Given the description of an element on the screen output the (x, y) to click on. 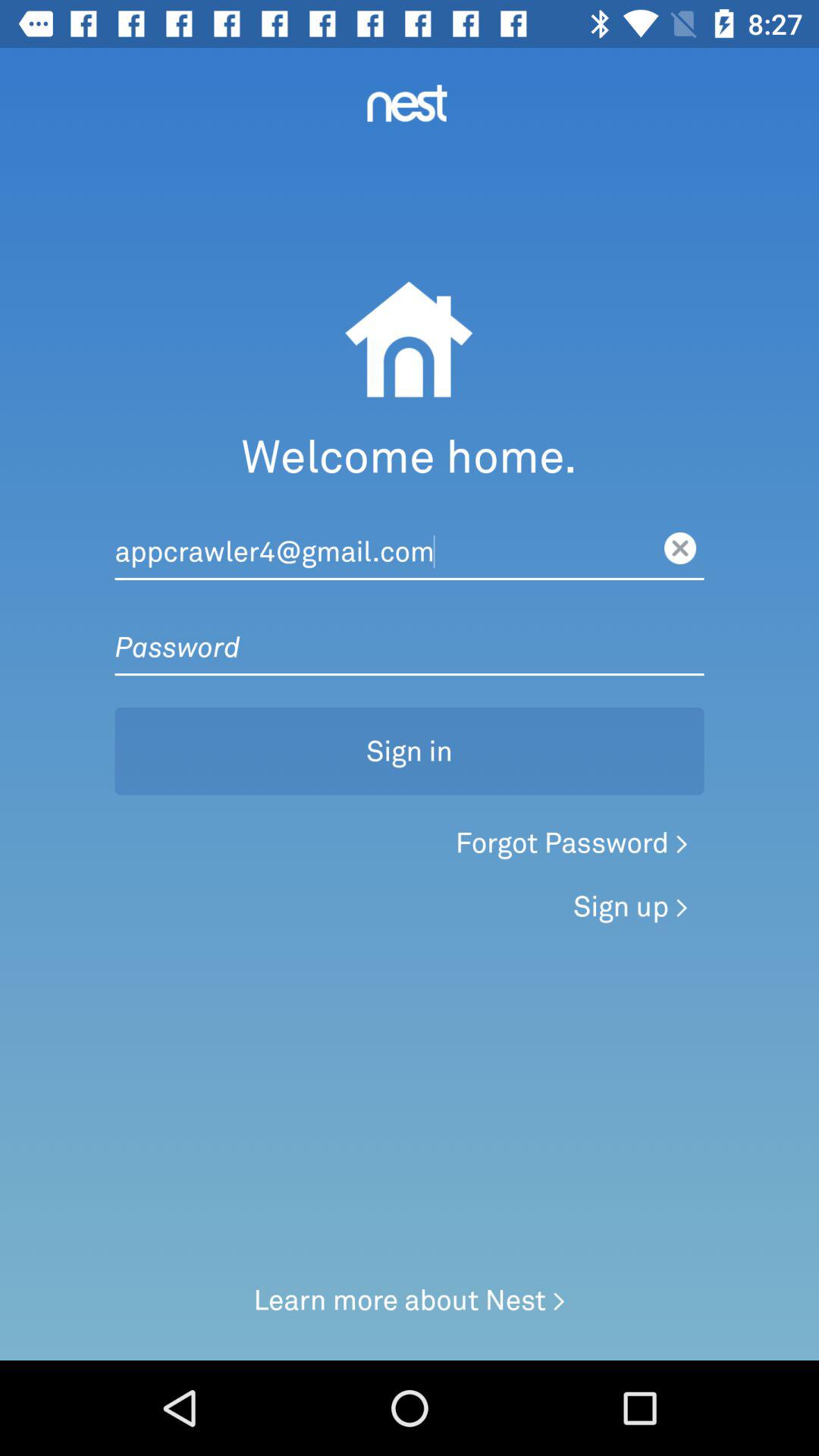
select the sign up option (630, 907)
select the image below nest (408, 345)
select cross icon in first text field (680, 548)
select welcome home (408, 458)
click on sign in button (409, 750)
click on mail text field (409, 536)
click on forgot password (571, 842)
